Given the description of an element on the screen output the (x, y) to click on. 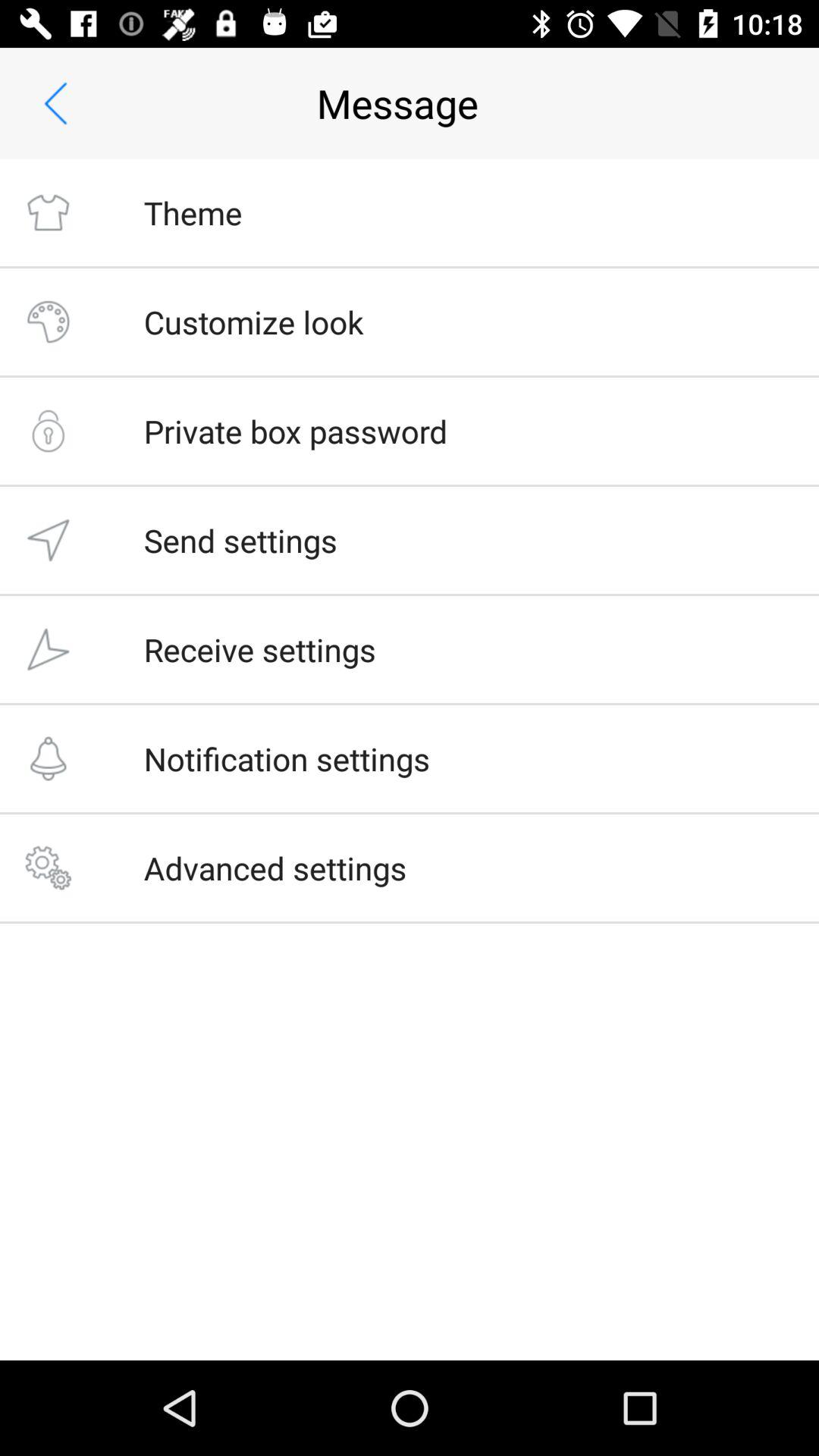
swipe until the advanced settings item (274, 867)
